Given the description of an element on the screen output the (x, y) to click on. 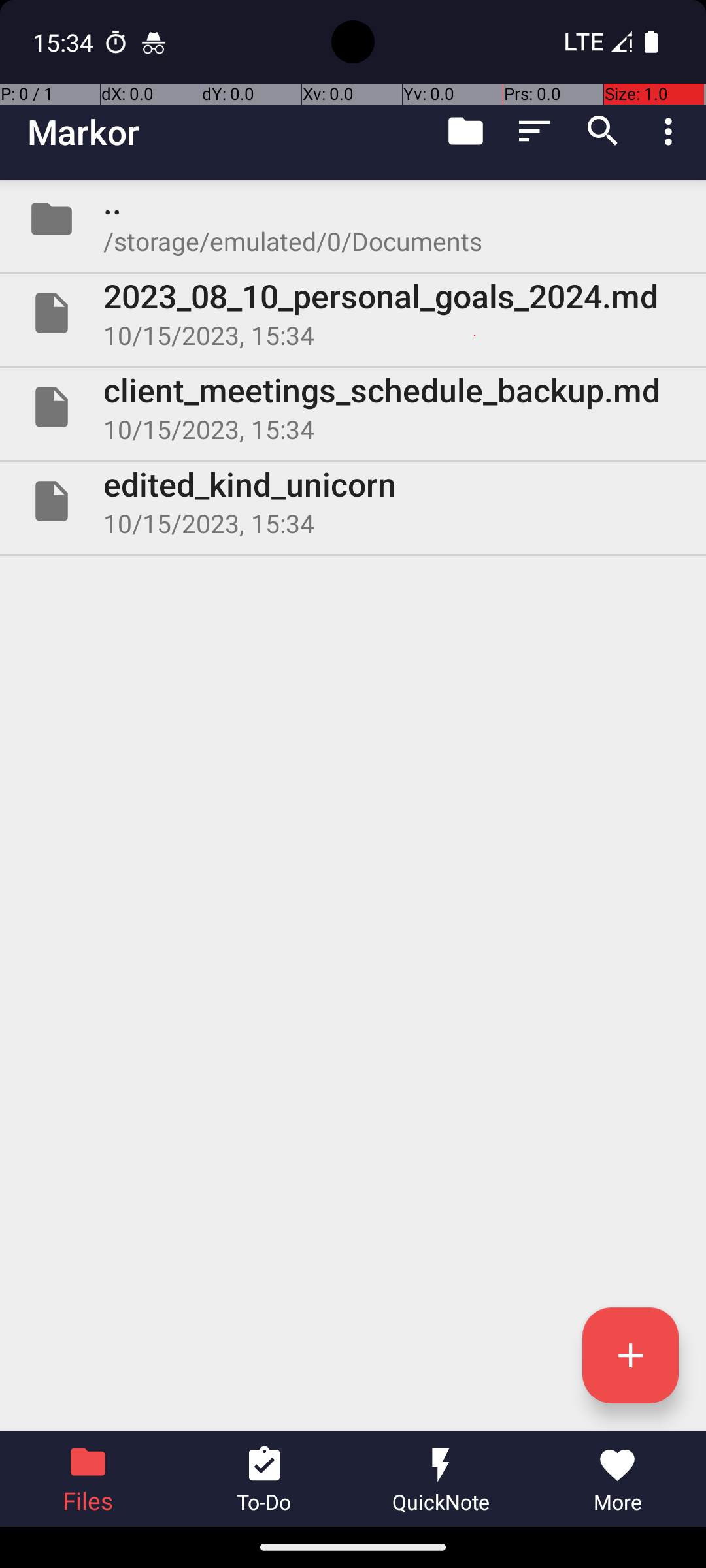
File 2023_08_10_personal_goals_2024.md  Element type: android.widget.LinearLayout (353, 312)
File client_meetings_schedule_backup.md  Element type: android.widget.LinearLayout (353, 406)
File edited_kind_unicorn  Element type: android.widget.LinearLayout (353, 500)
Chrome notification: Incognito Tabs Element type: android.widget.ImageView (153, 41)
